Given the description of an element on the screen output the (x, y) to click on. 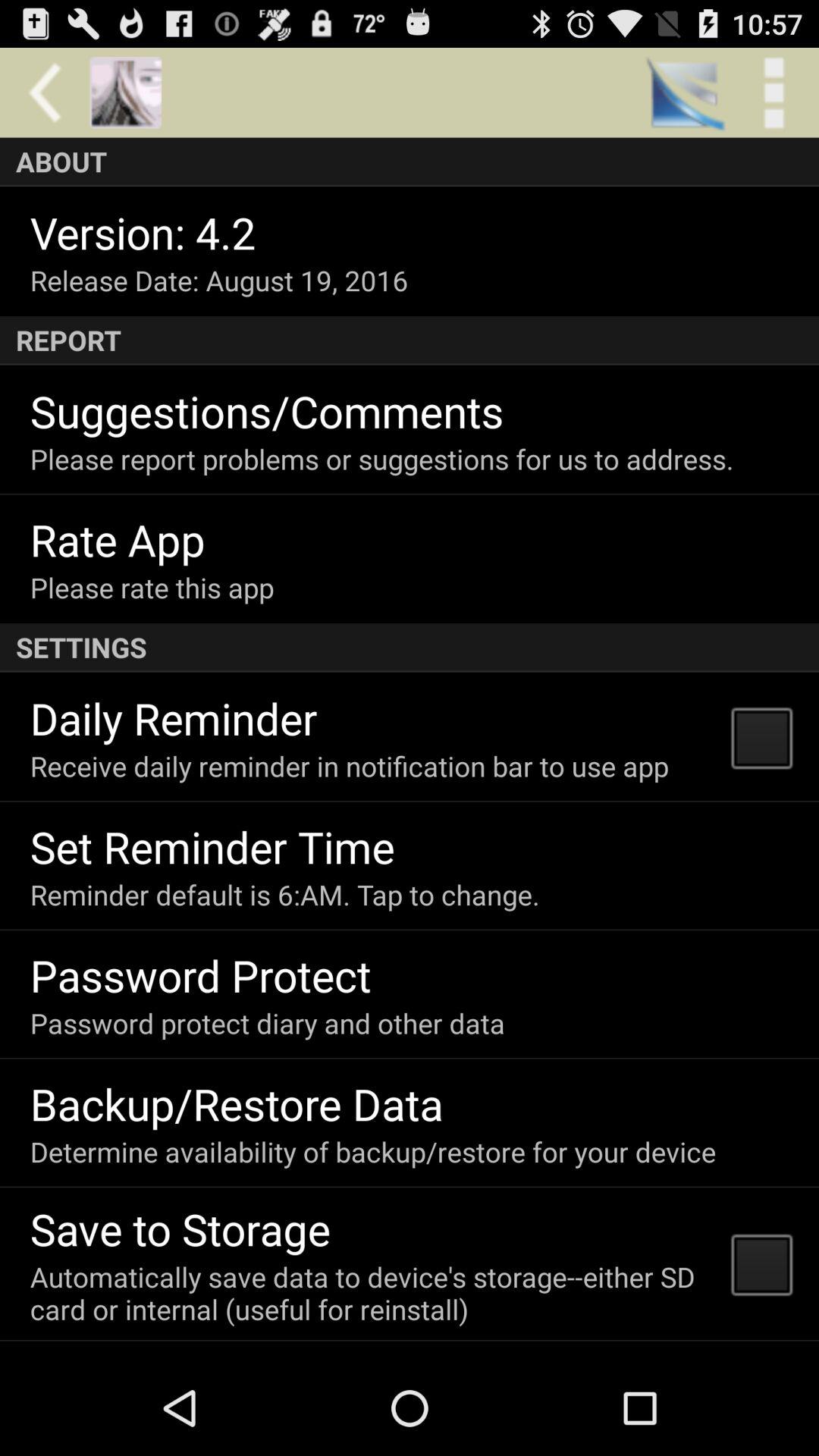
launch the icon above daily reminder (409, 647)
